Given the description of an element on the screen output the (x, y) to click on. 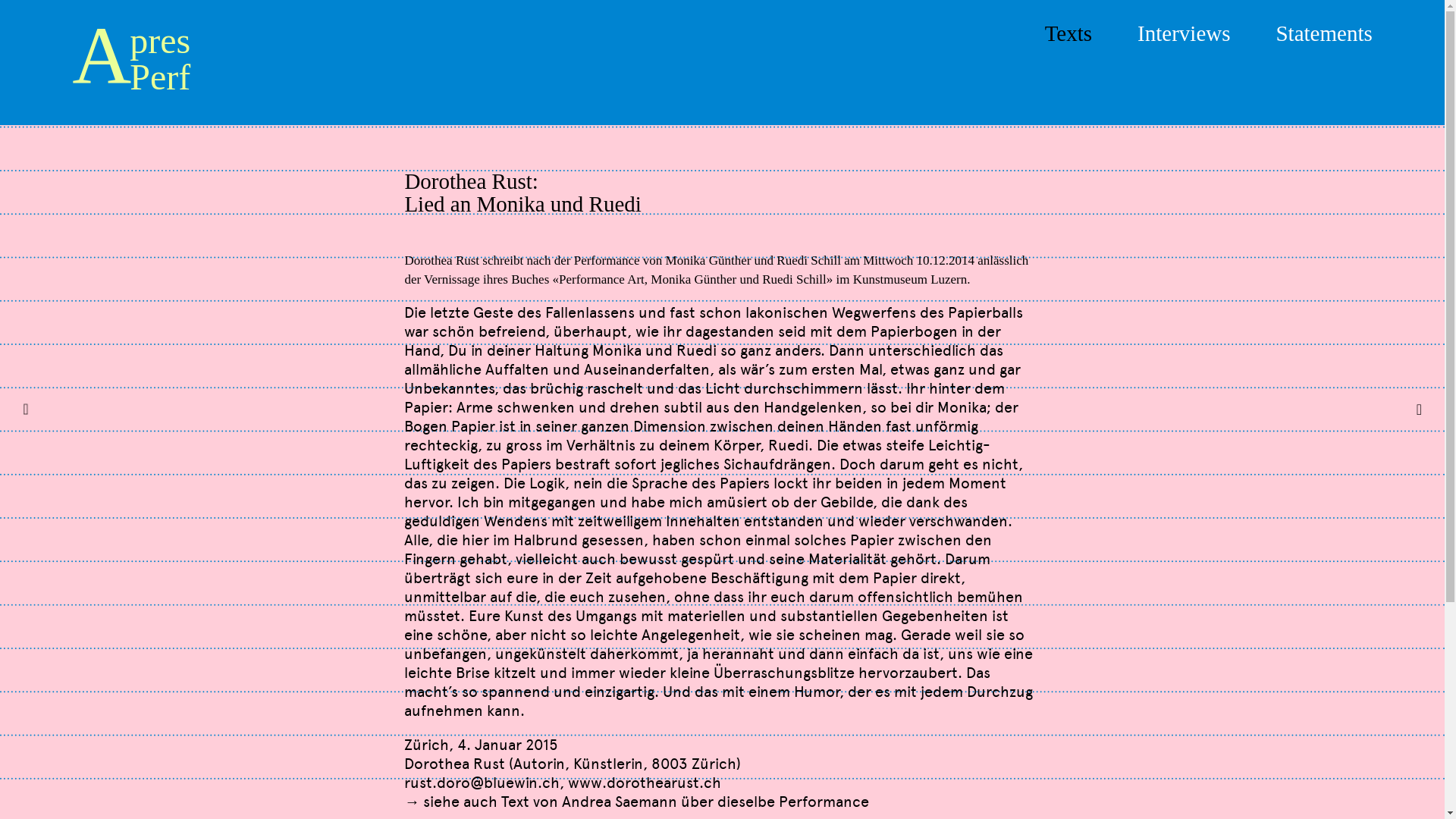
Statements Element type: text (1323, 33)
Interviews Element type: text (1183, 33)
Texts Element type: text (1068, 33)
A
pres
Perf Element type: text (131, 64)
